Given the description of an element on the screen output the (x, y) to click on. 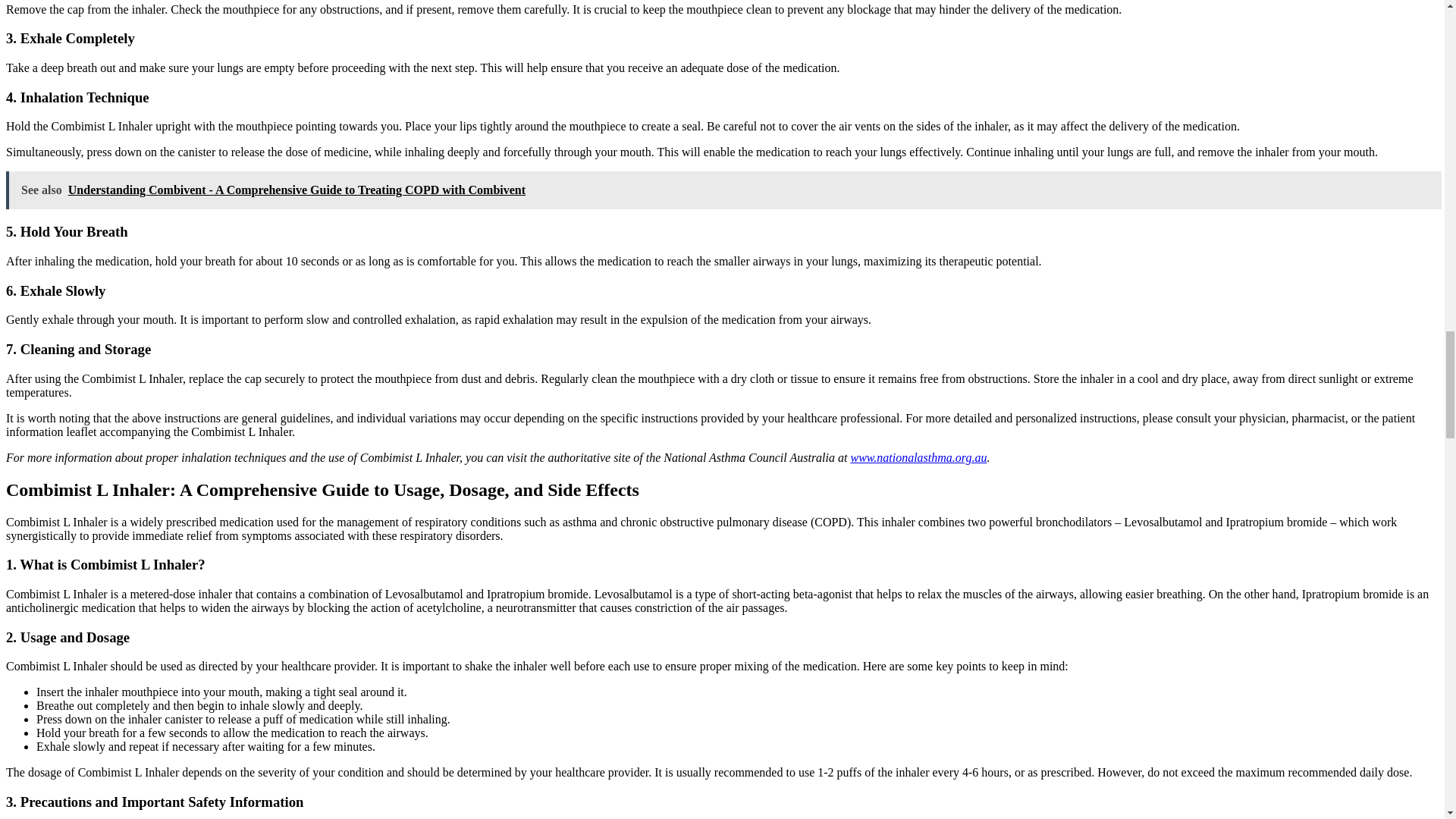
www.nationalasthma.org.au (918, 457)
